Given the description of an element on the screen output the (x, y) to click on. 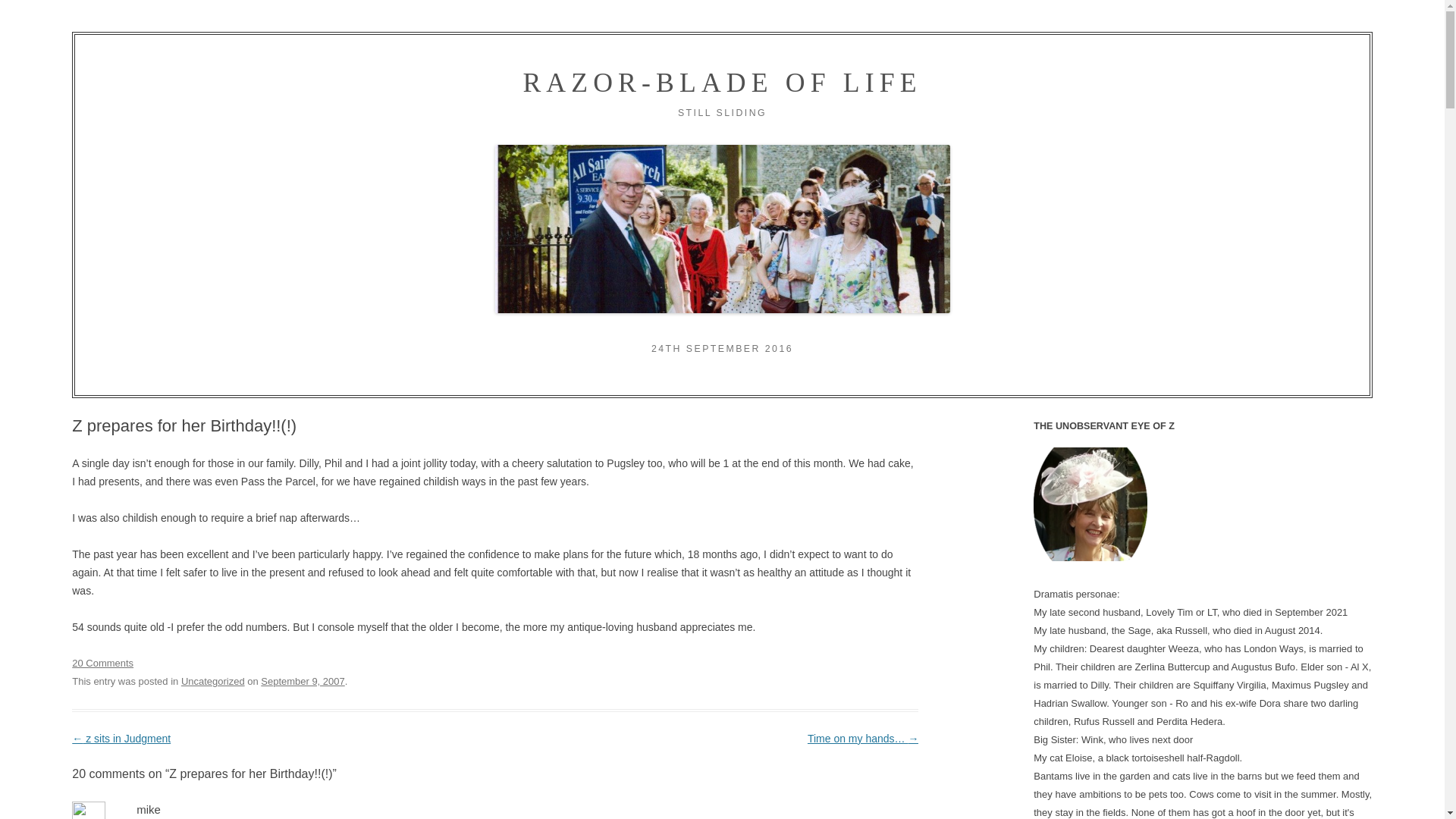
RAZOR-BLADE OF LIFE (721, 82)
mike (148, 809)
Razor-blade of Life (721, 82)
September 9, 2007 (301, 681)
SKIP TO CONTENT (769, 132)
20 Comments (102, 663)
Uncategorized (212, 681)
10:15 pm (301, 681)
Skip to content (769, 132)
